Given the description of an element on the screen output the (x, y) to click on. 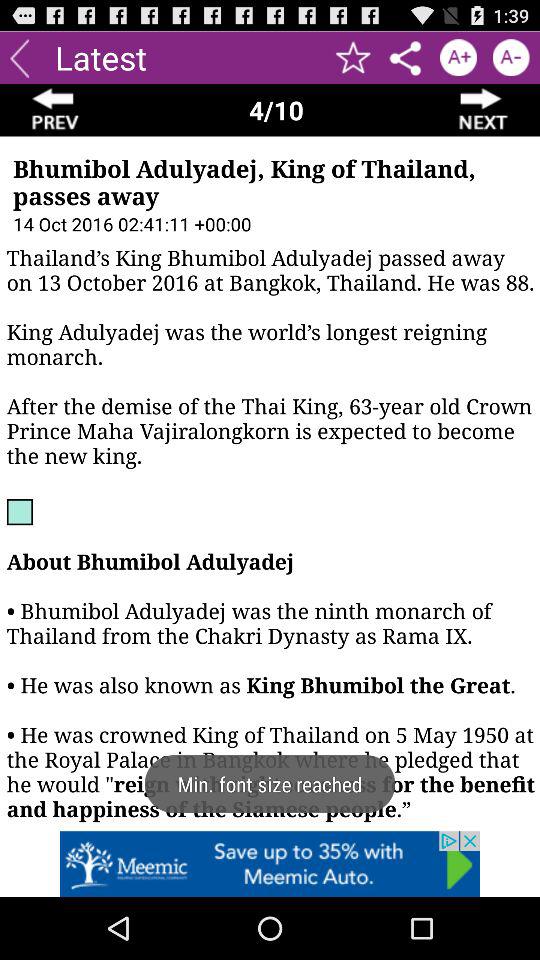
go previous (19, 57)
